Given the description of an element on the screen output the (x, y) to click on. 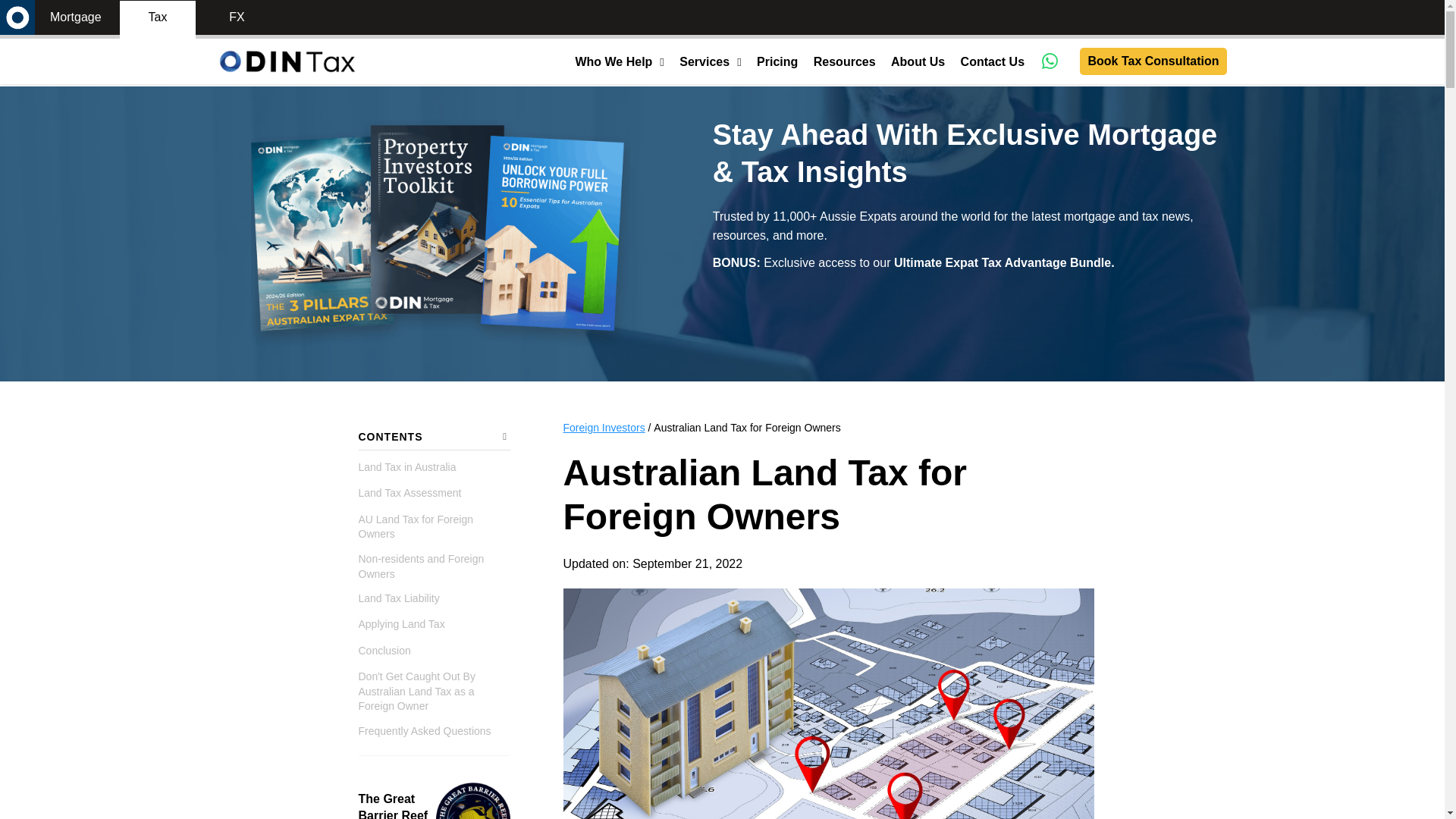
Land Tax Assessment (409, 493)
Land Tax Assessment (409, 493)
AU Land Tax for Foreign Owners (433, 527)
Who We Help (613, 62)
Land Tax Liability (398, 598)
Applying Land Tax (401, 624)
Resources (844, 62)
Land Tax Liability (398, 598)
AU Land Tax for Foreign Owners (433, 527)
